Given the description of an element on the screen output the (x, y) to click on. 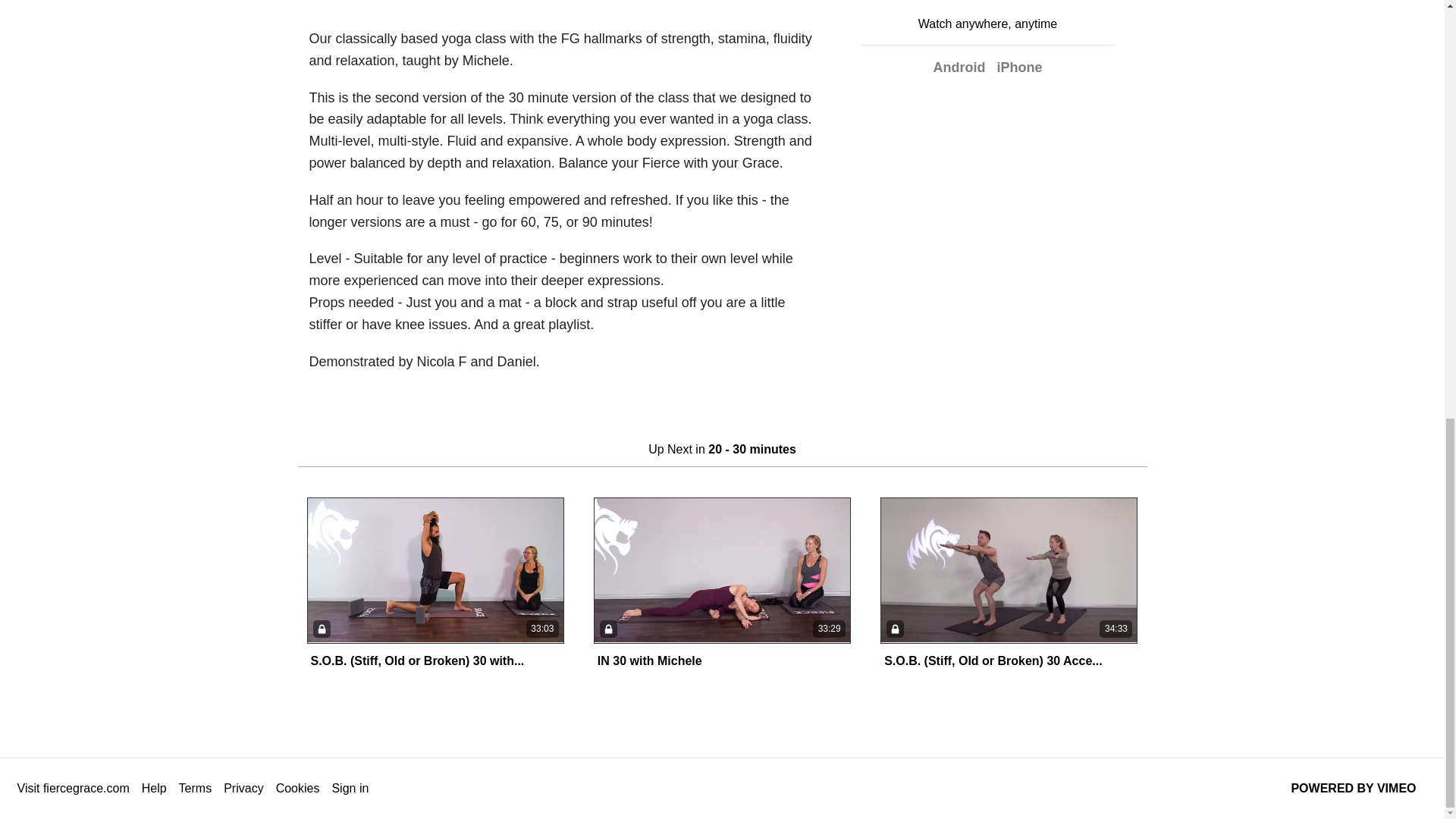
20 - 30 minutes (751, 449)
IN 30 with Michele (648, 660)
33:29 (722, 570)
Android (958, 67)
20 - 30 minutes (350, 0)
POWERED BY VIMEO (1352, 788)
Privacy (243, 788)
Terms (195, 788)
Visit fiercegrace.com (72, 788)
33:03 (434, 570)
iPhone (1019, 67)
34:33 (1008, 570)
Cookies (298, 788)
Sign in (349, 788)
Help (154, 788)
